Given the description of an element on the screen output the (x, y) to click on. 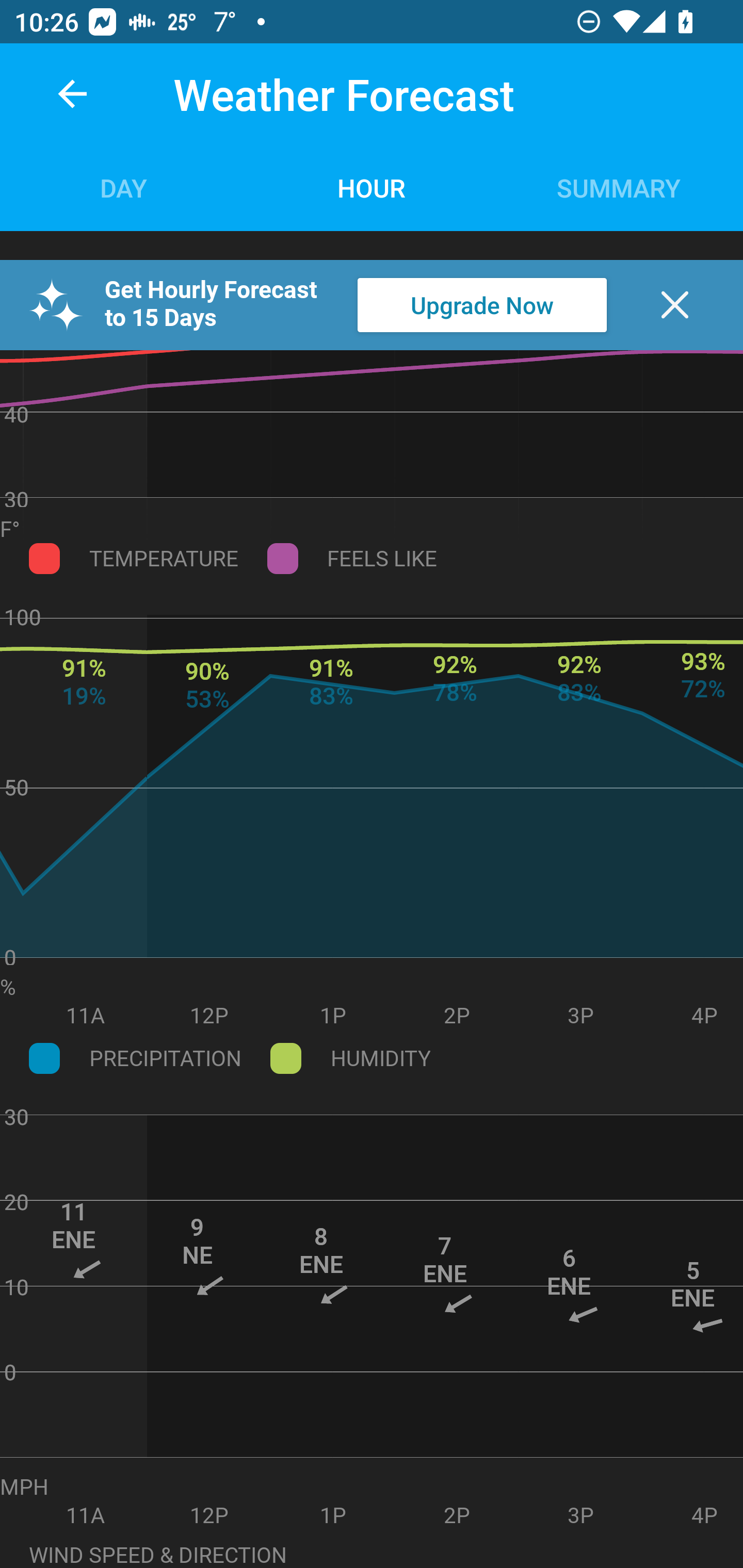
back (71, 93)
Day Tab DAY (123, 187)
Summary Tab SUMMARY (619, 187)
Upgrade Now (482, 304)
